Given the description of an element on the screen output the (x, y) to click on. 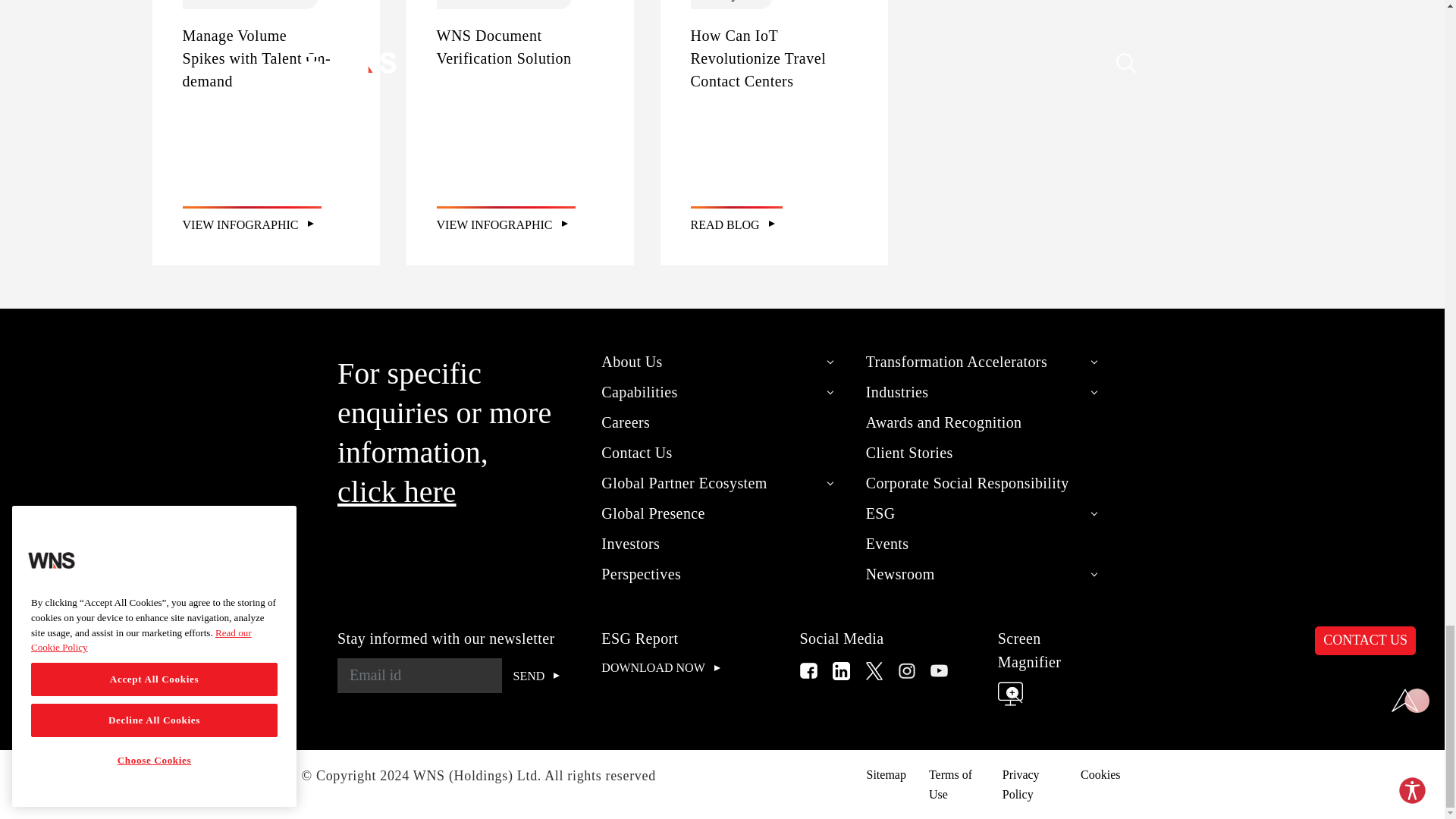
Back to Top (1410, 700)
